Given the description of an element on the screen output the (x, y) to click on. 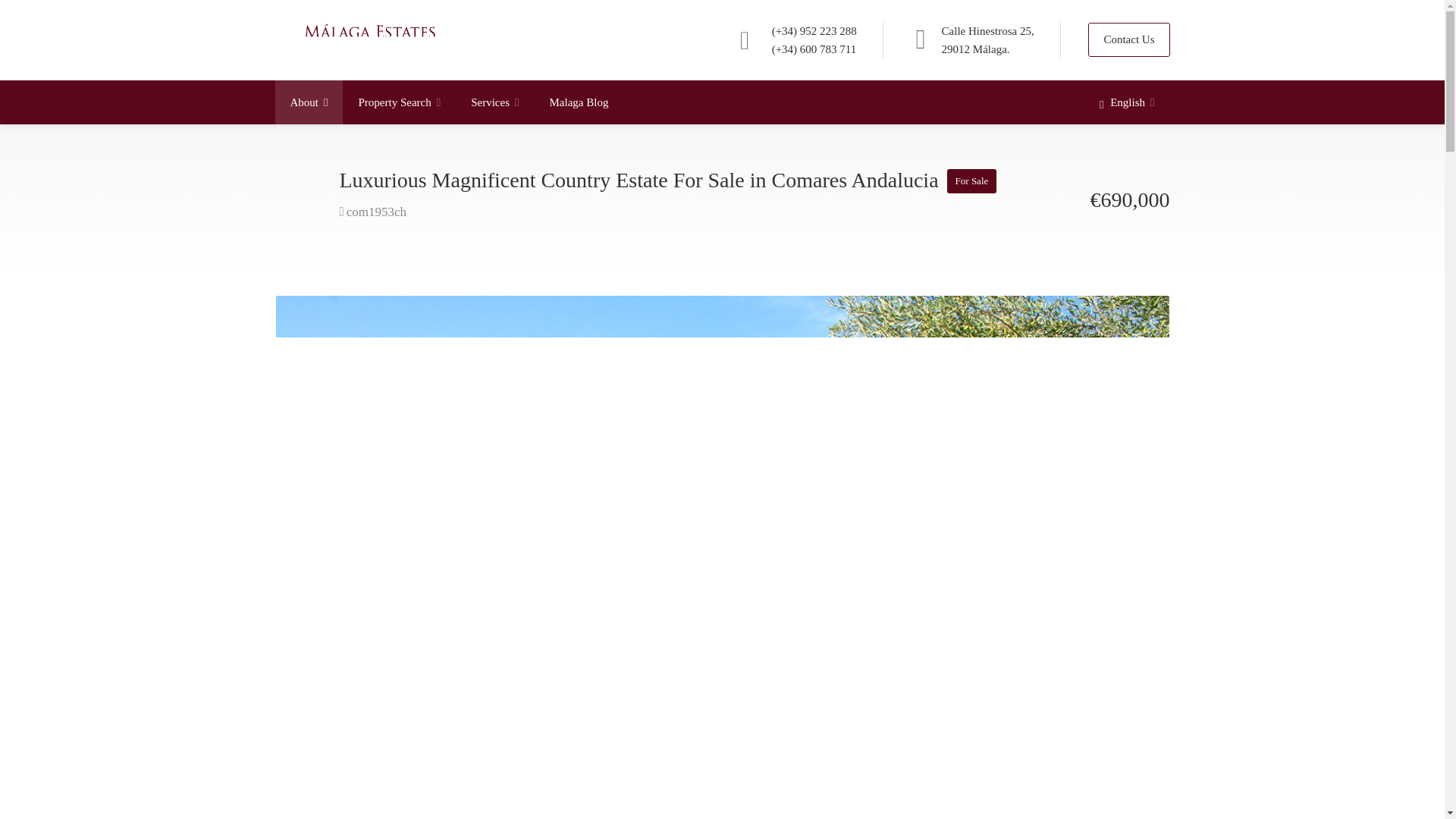
About (308, 102)
Calle Hinestrosa 25, (987, 30)
Property Search (398, 102)
Services (494, 102)
Contact Us (1128, 39)
